Given the description of an element on the screen output the (x, y) to click on. 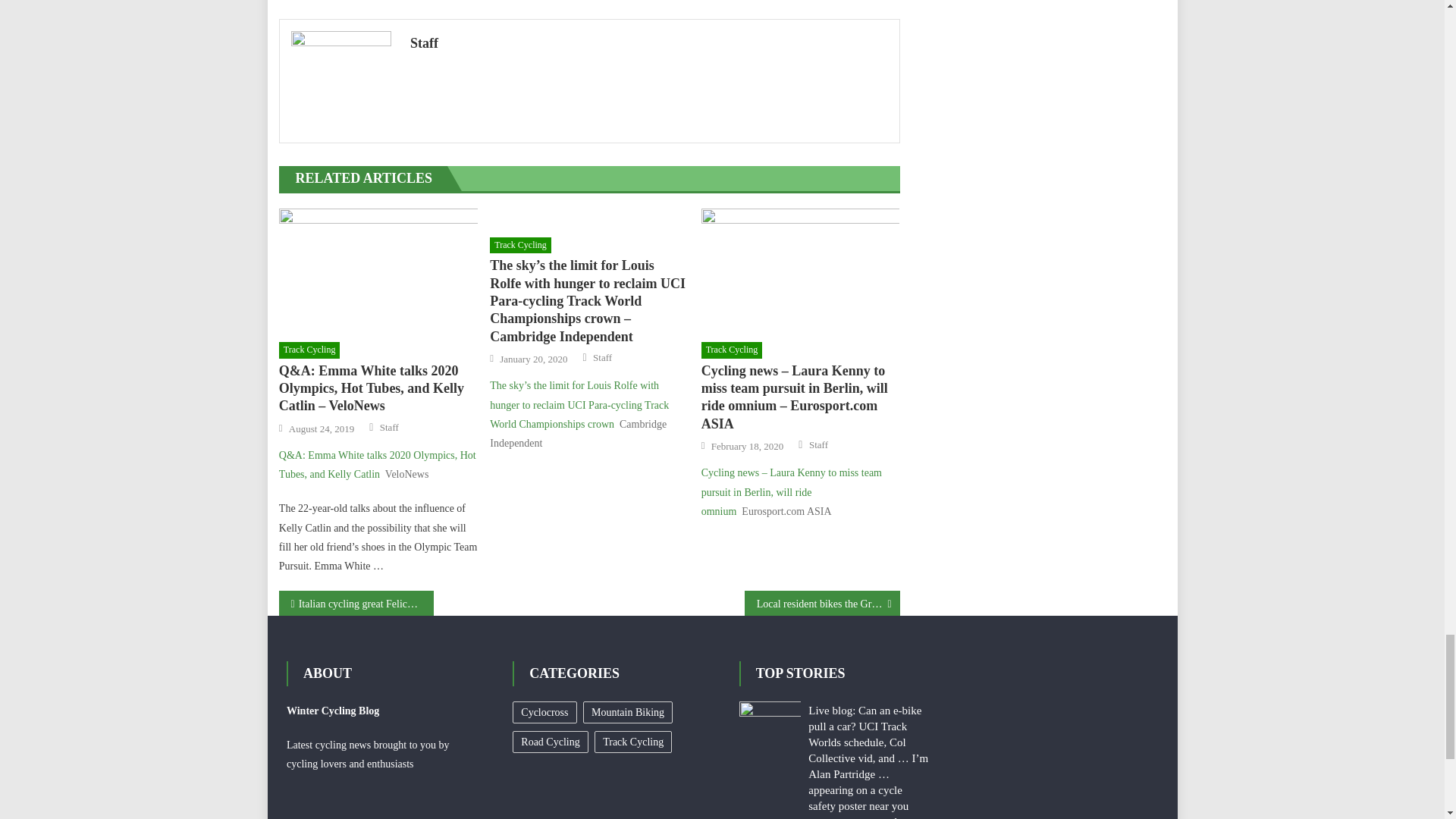
Staff (389, 427)
Staff (649, 43)
Staff (601, 357)
January 20, 2020 (533, 359)
August 24, 2019 (320, 428)
Track Cycling (731, 350)
Track Cycling (309, 350)
Track Cycling (520, 245)
